Given the description of an element on the screen output the (x, y) to click on. 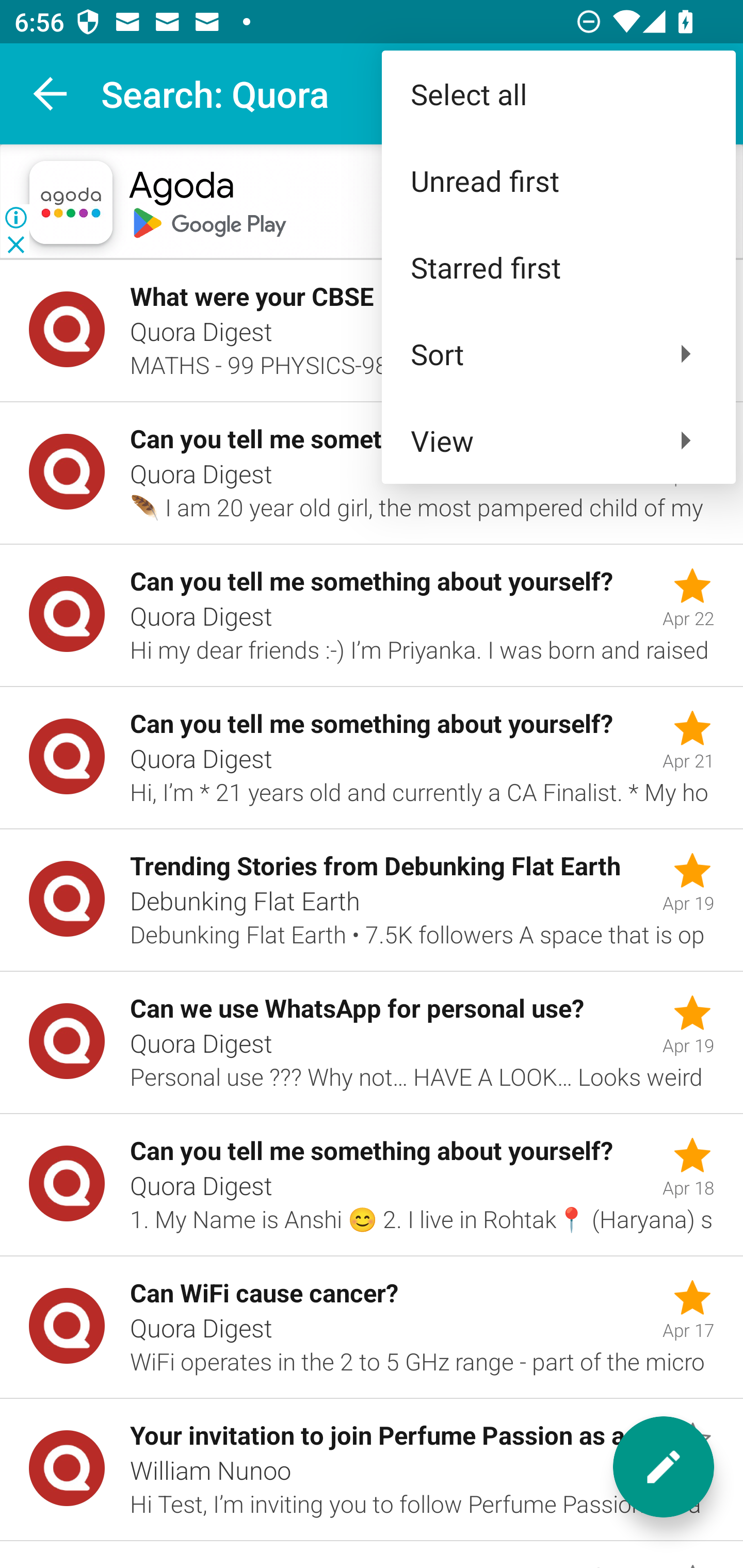
Select all (558, 93)
Unread first (558, 180)
Starred first (558, 267)
Sort (558, 353)
View (558, 440)
